Given the description of an element on the screen output the (x, y) to click on. 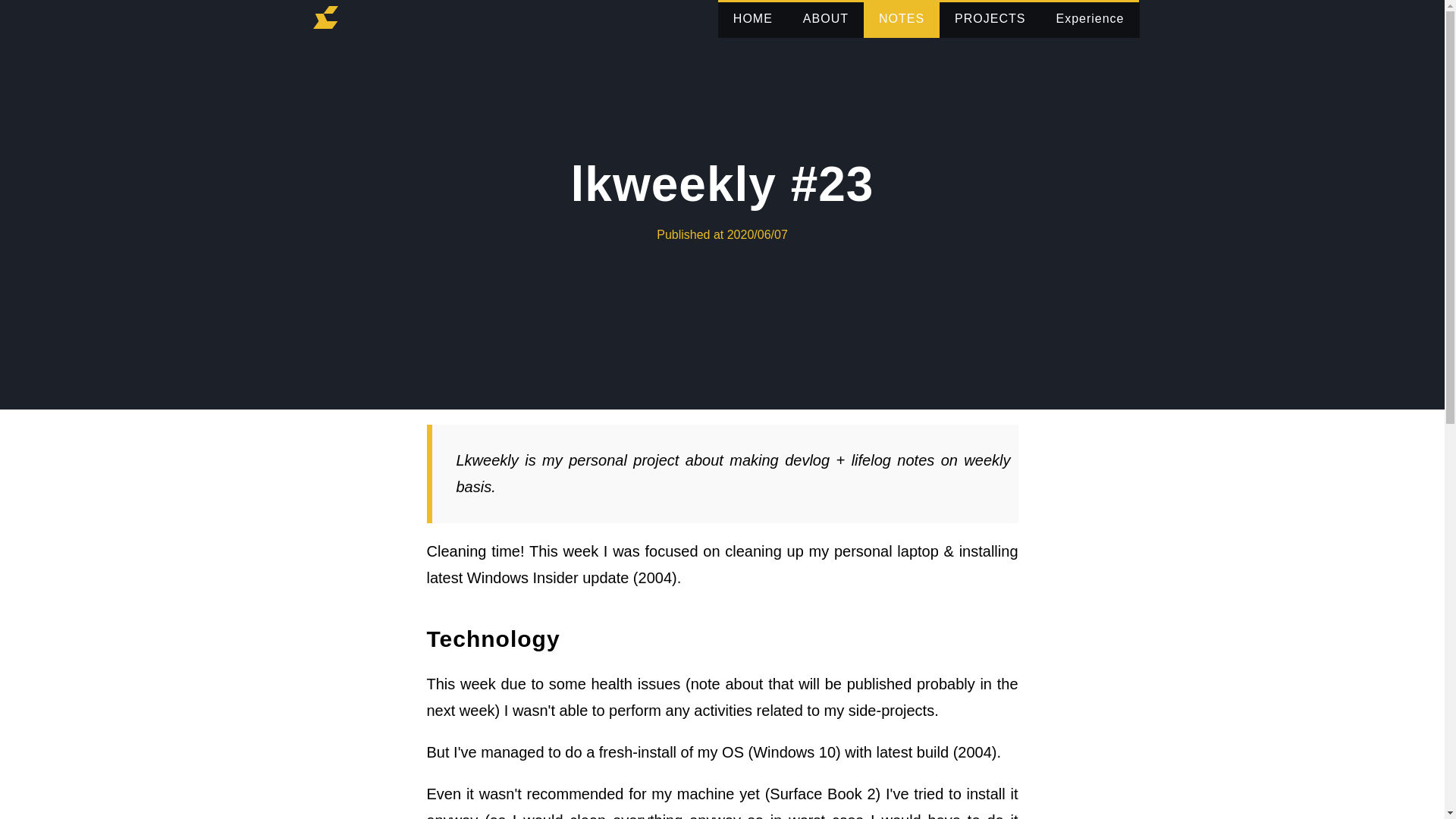
PROJECTS (990, 18)
HOME (752, 18)
ABOUT (825, 18)
Experience (1089, 18)
NOTES (901, 18)
